Given the description of an element on the screen output the (x, y) to click on. 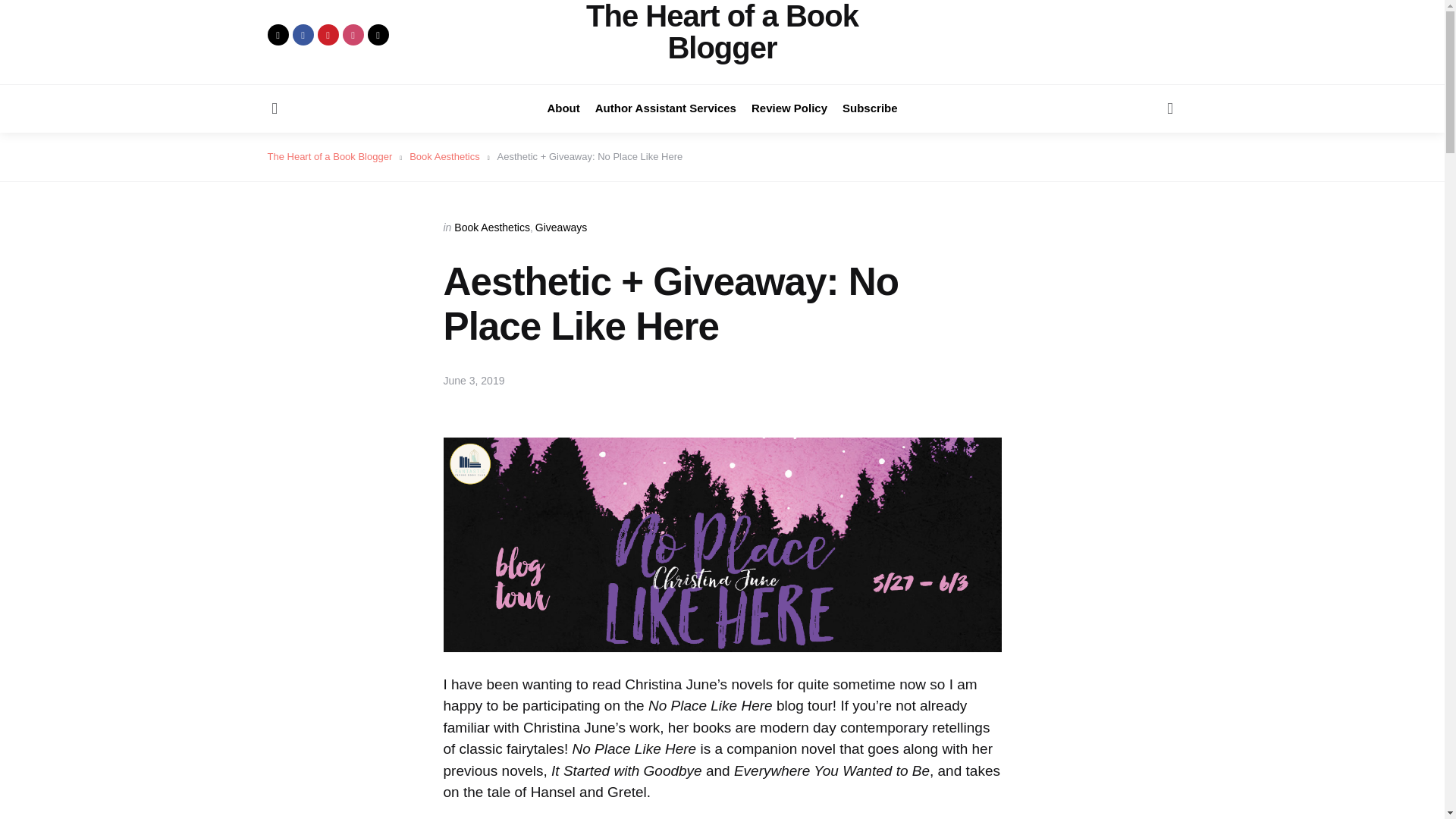
Author Assistant Services (665, 108)
About (563, 108)
Giveaways (560, 227)
The Heart of a Book Blogger (328, 155)
Go to The Heart of a Book Blogger. (328, 155)
Book Aesthetics (444, 155)
Book Aesthetics (491, 227)
Go to the Book Aesthetics Category archives. (444, 155)
Subscribe (870, 108)
Review Policy (789, 108)
The Heart of a Book Blogger (721, 31)
